Given the description of an element on the screen output the (x, y) to click on. 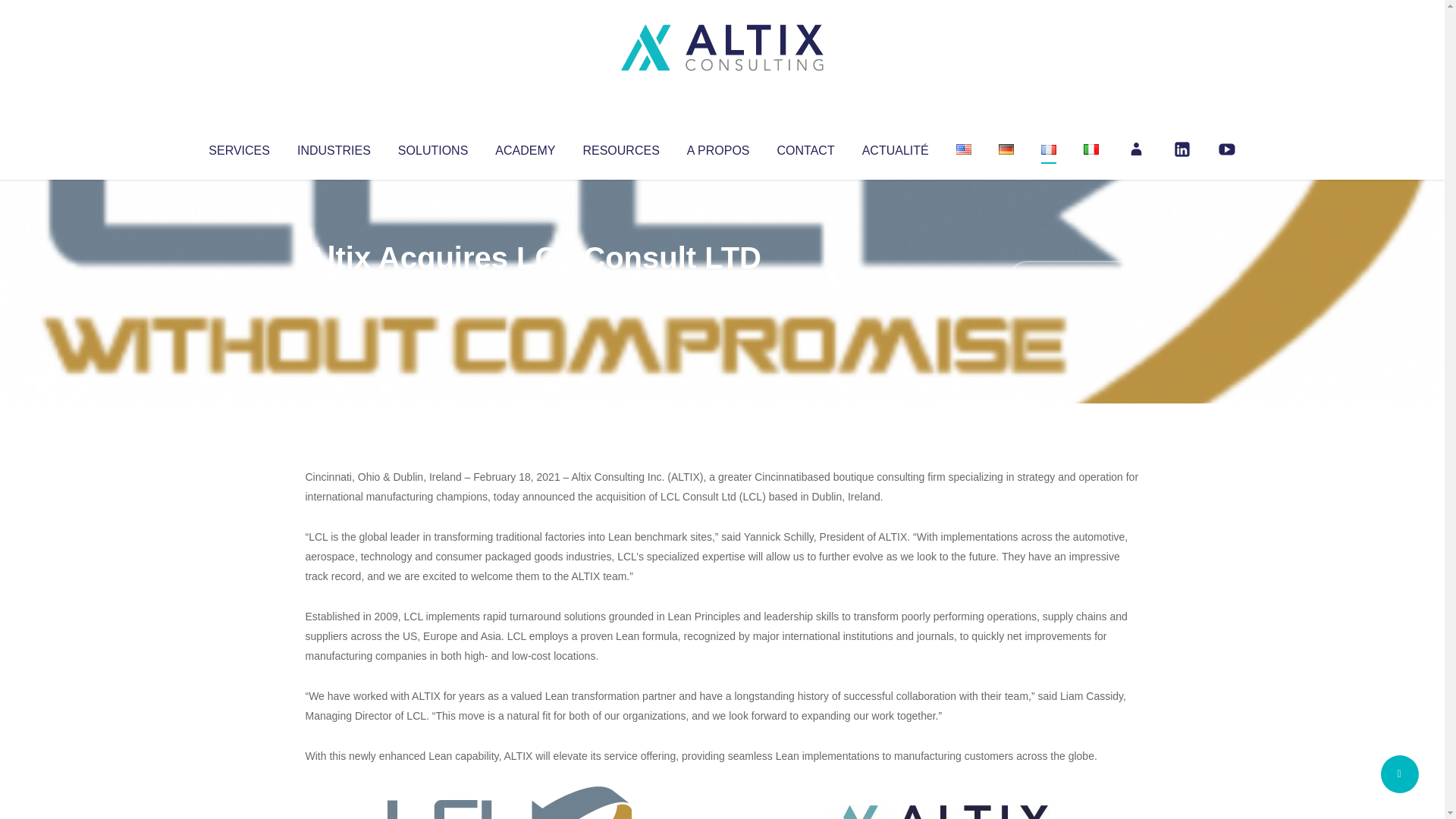
Uncategorized (530, 287)
Articles par Altix (333, 287)
A PROPOS (718, 146)
No Comments (1073, 278)
ACADEMY (524, 146)
SOLUTIONS (432, 146)
INDUSTRIES (334, 146)
Altix (333, 287)
RESOURCES (620, 146)
SERVICES (238, 146)
